Given the description of an element on the screen output the (x, y) to click on. 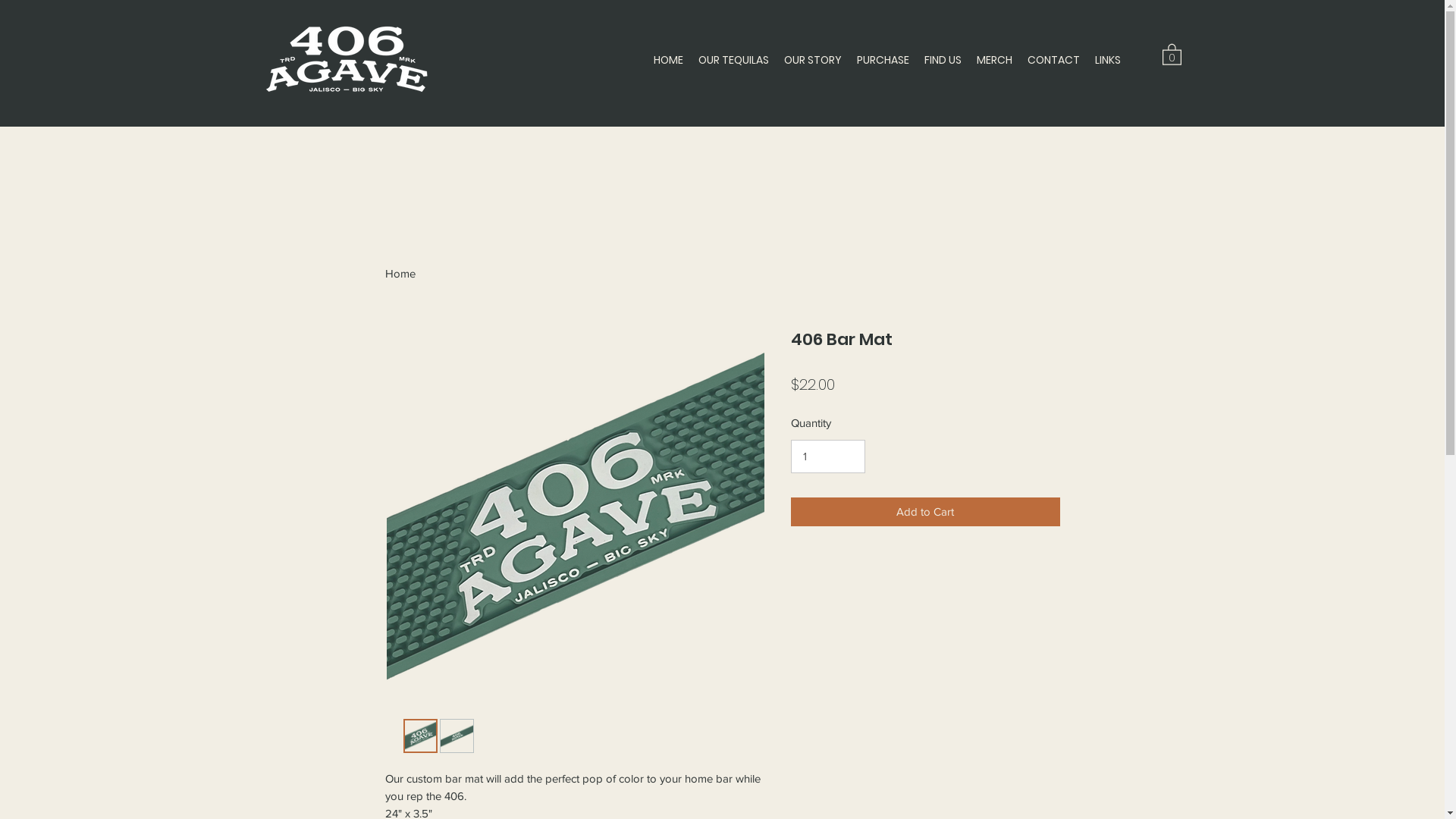
MERCH Element type: text (994, 59)
OUR TEQUILAS Element type: text (732, 59)
FIND US Element type: text (942, 59)
HOME Element type: text (668, 59)
LINKS Element type: text (1107, 59)
0 Element type: text (1170, 53)
PURCHASE Element type: text (882, 59)
Add to Cart Element type: text (924, 512)
CONTACT Element type: text (1052, 59)
Home Element type: text (400, 272)
OUR STORY Element type: text (812, 59)
